Given the description of an element on the screen output the (x, y) to click on. 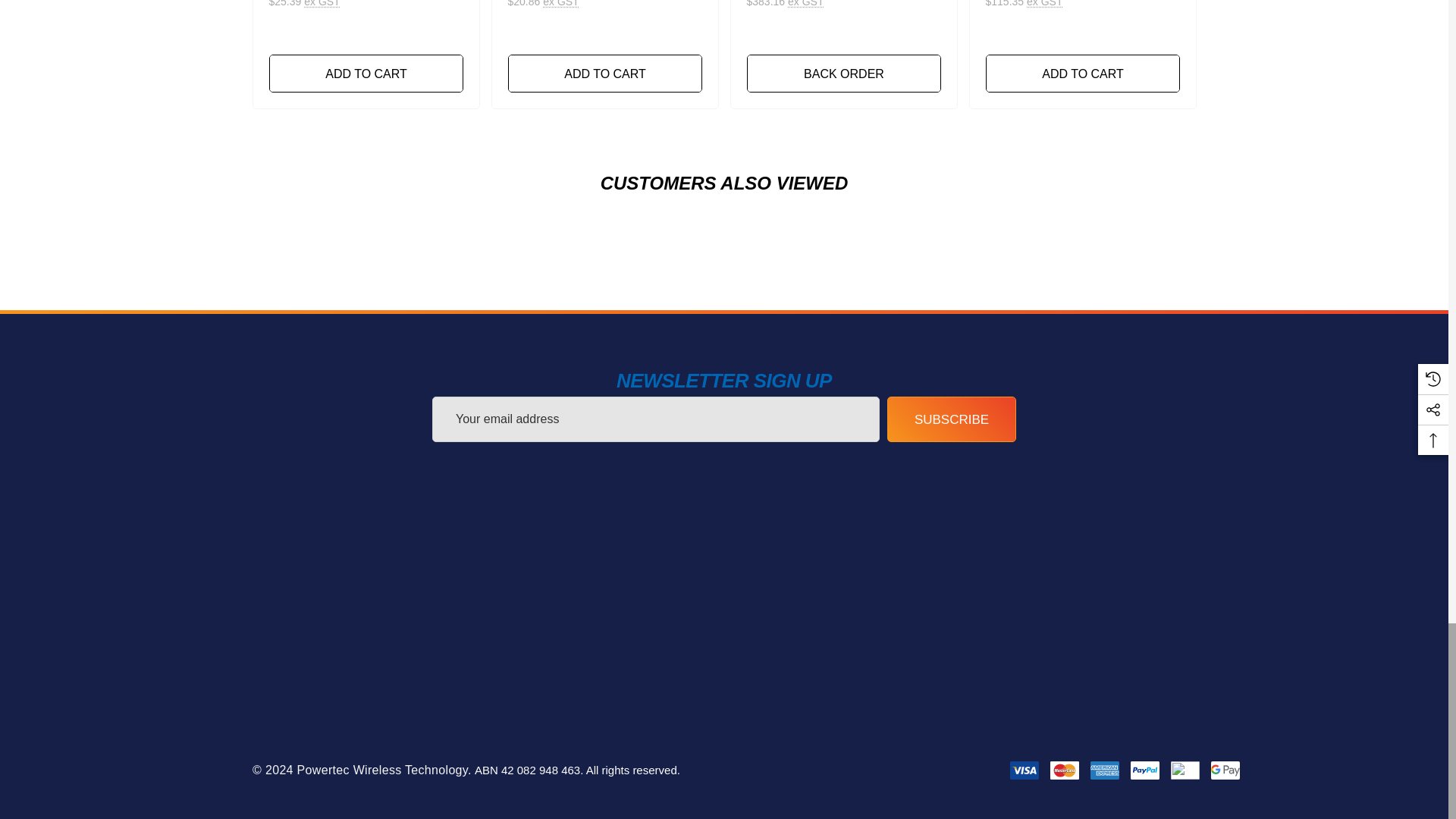
Paypal Paypal (1144, 770)
Amex Amex (1104, 770)
Visa Visa (1024, 770)
Mastercard Mastercard (1063, 770)
